Given the description of an element on the screen output the (x, y) to click on. 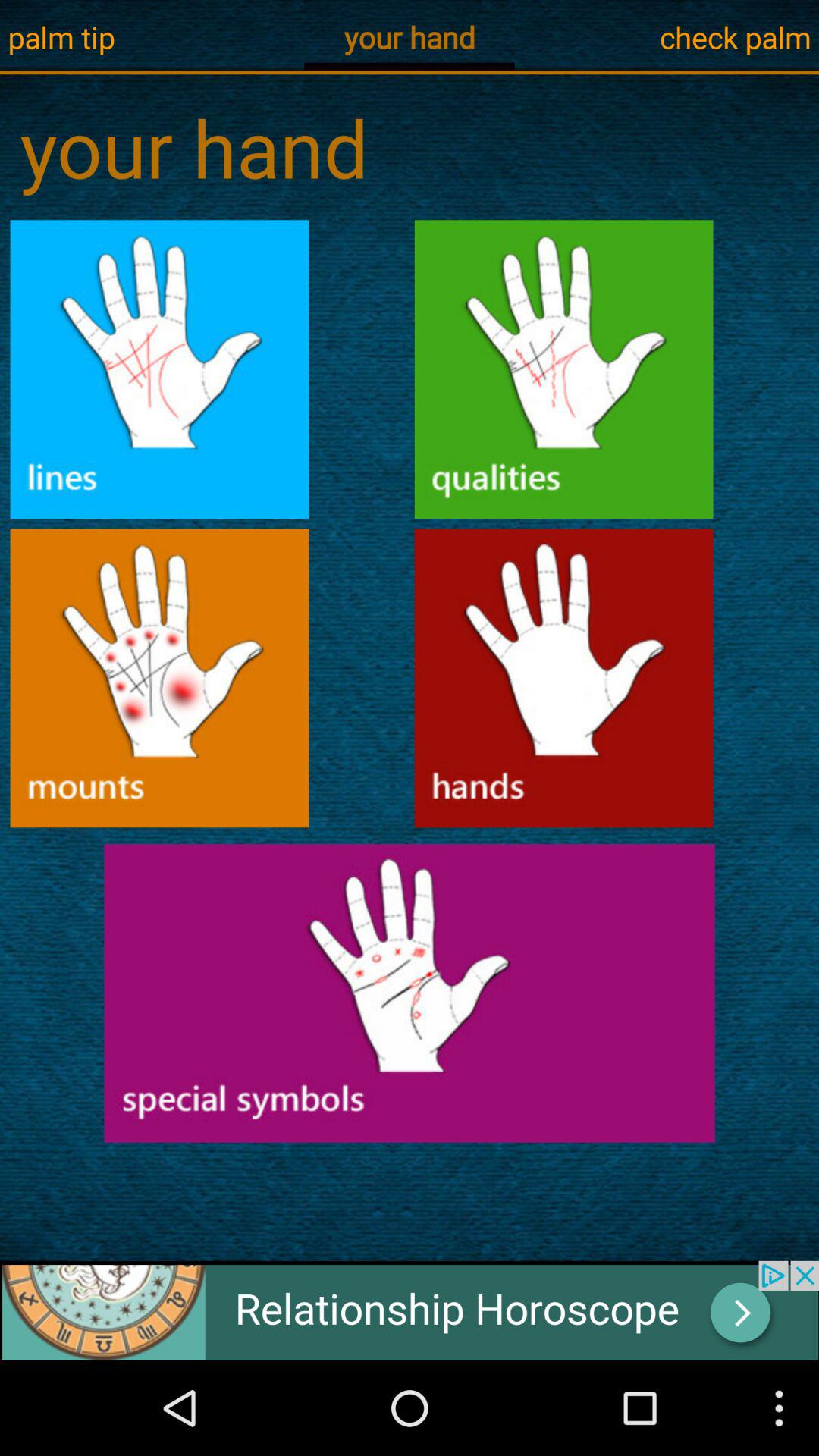
horoscope mos (409, 993)
